Given the description of an element on the screen output the (x, y) to click on. 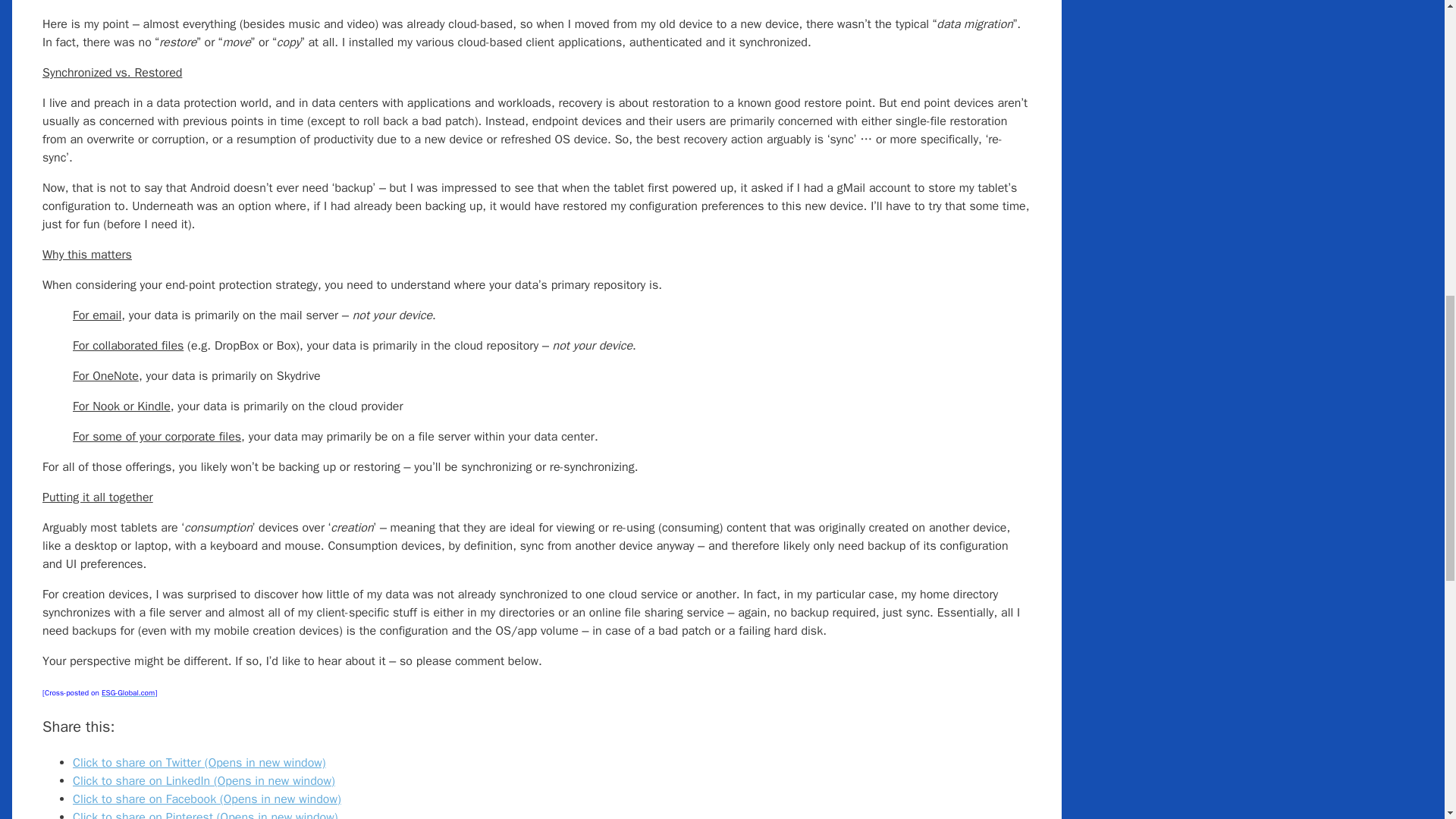
Click to share on Pinterest (204, 814)
ESG-Global.com (127, 691)
Click to share on Facebook (206, 798)
Click to share on Twitter (199, 762)
Click to share on LinkedIn (203, 780)
